Given the description of an element on the screen output the (x, y) to click on. 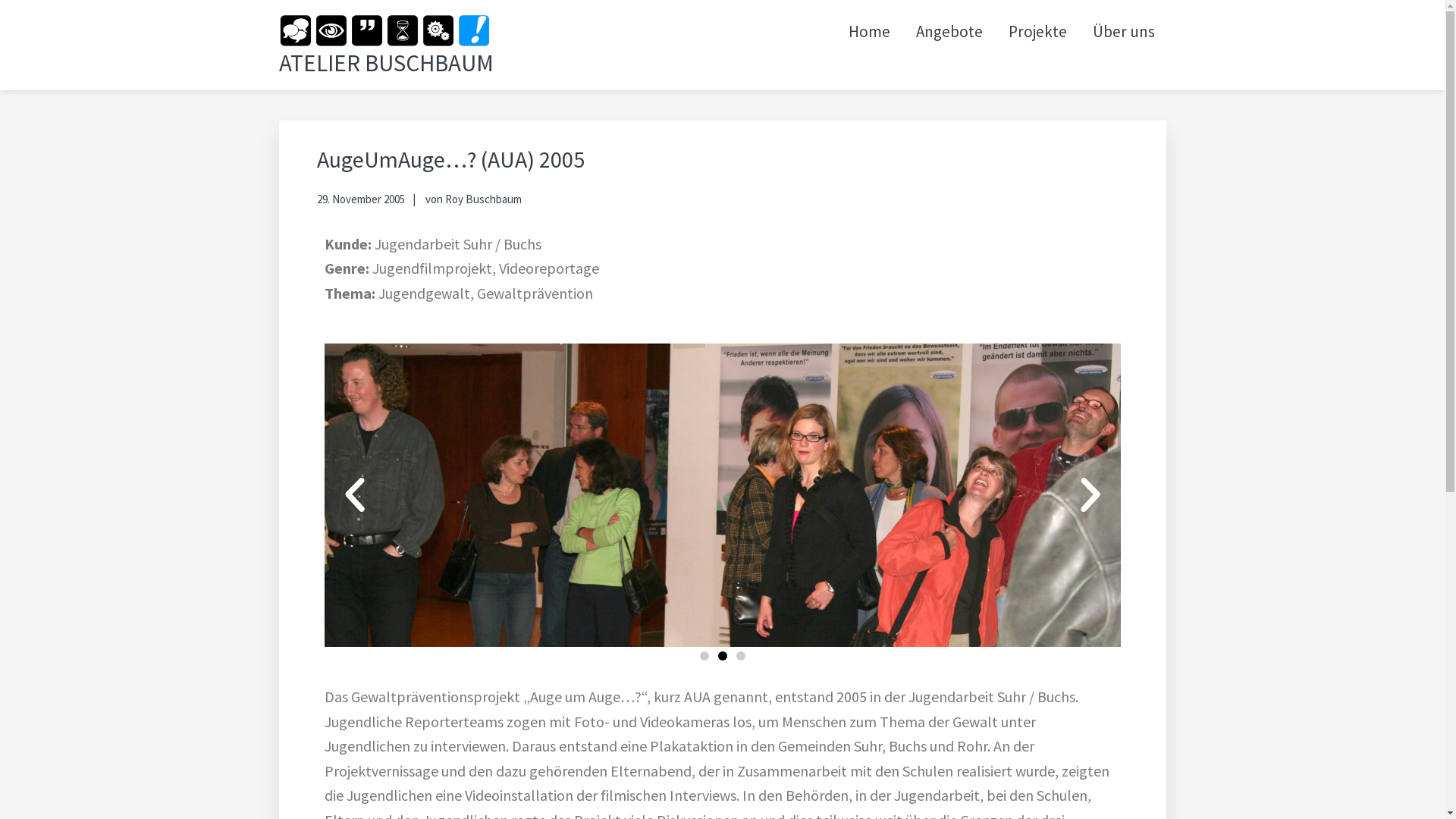
ATELIER BUSCHBAUM Element type: text (386, 62)
Home Element type: text (869, 31)
Angebote Element type: text (948, 31)
Roy Buschbaum Element type: text (482, 198)
Projekte Element type: text (1036, 31)
Zur Hauptnavigation springen Element type: text (0, 0)
